Given the description of an element on the screen output the (x, y) to click on. 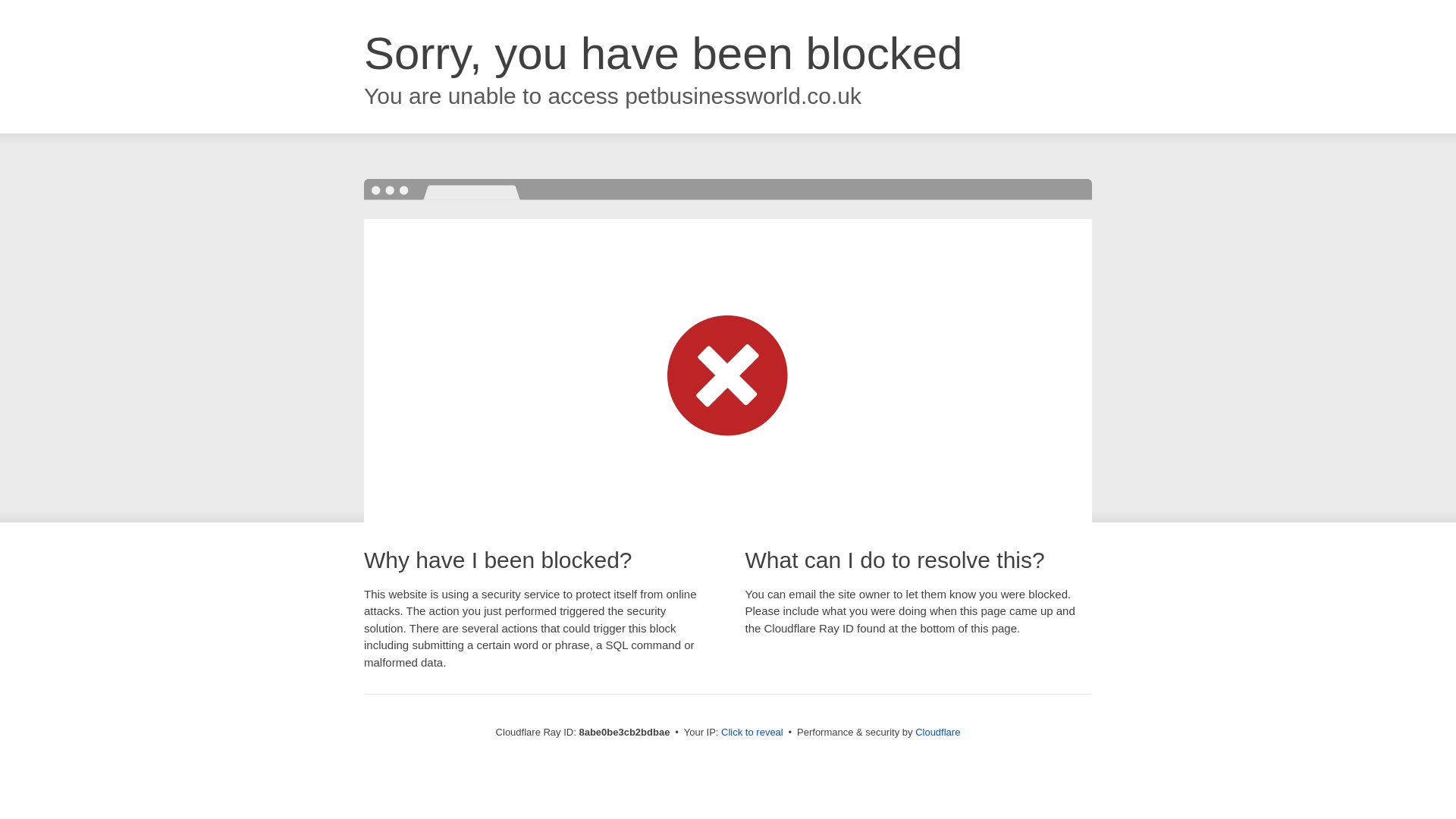
Click to reveal (751, 732)
Cloudflare (937, 731)
